Given the description of an element on the screen output the (x, y) to click on. 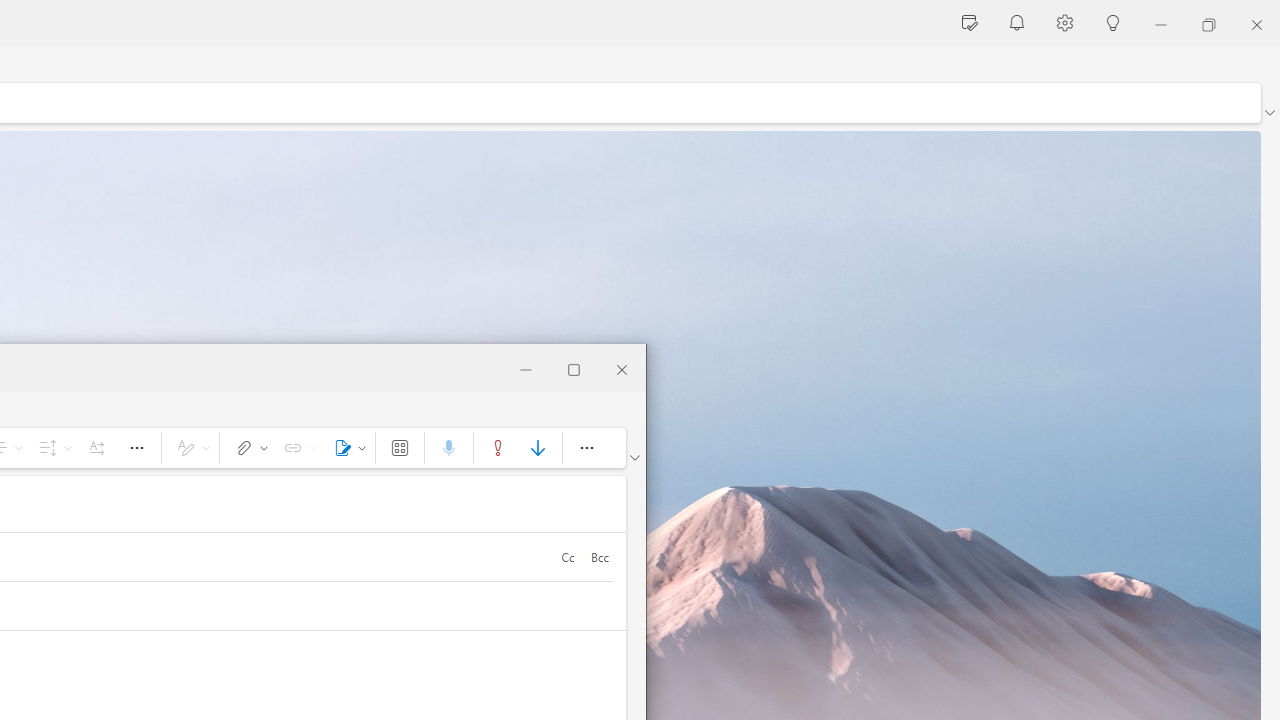
Bcc (599, 556)
Ribbon display options (634, 457)
